Given the description of an element on the screen output the (x, y) to click on. 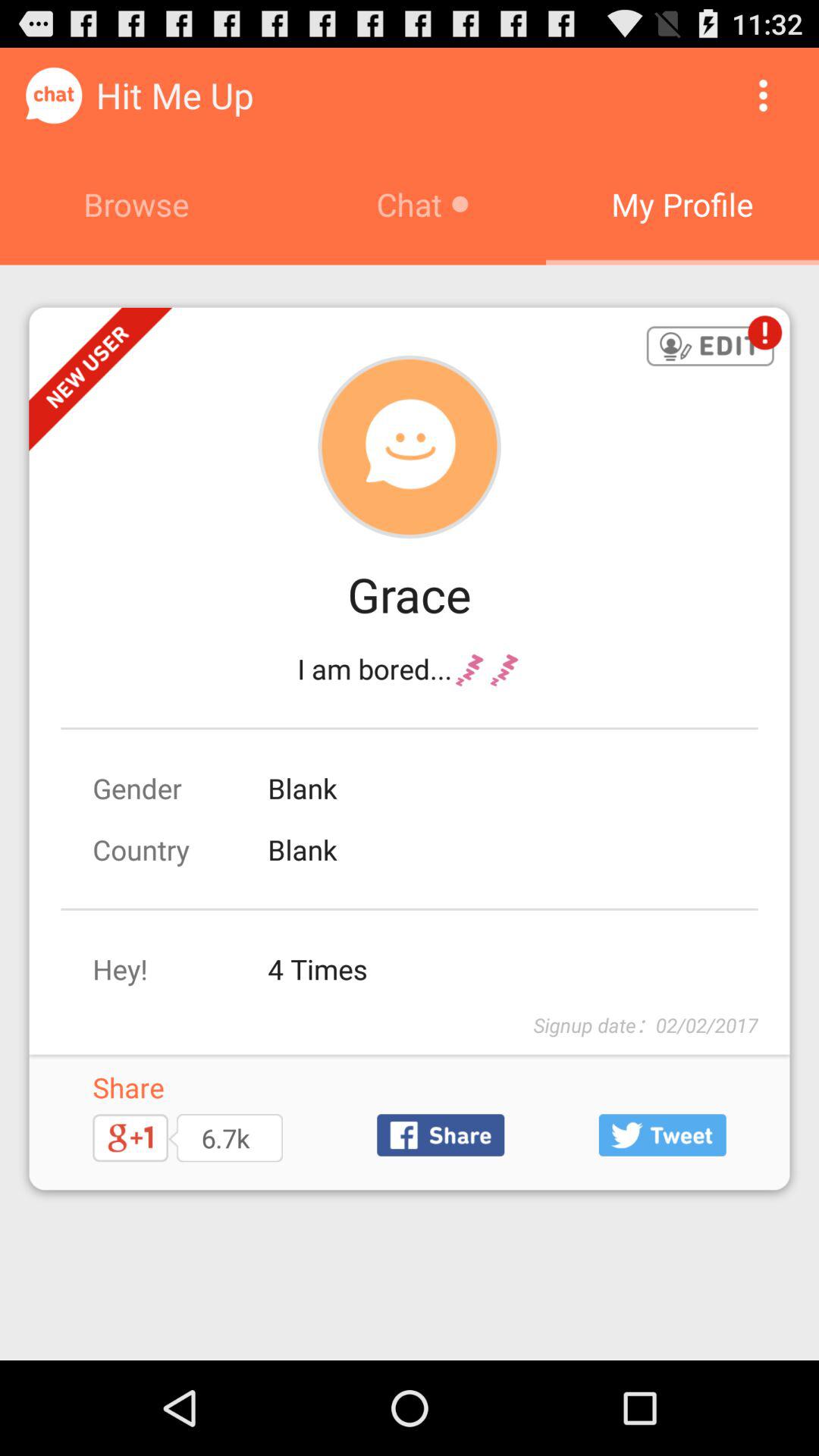
share on facebook (440, 1135)
